Given the description of an element on the screen output the (x, y) to click on. 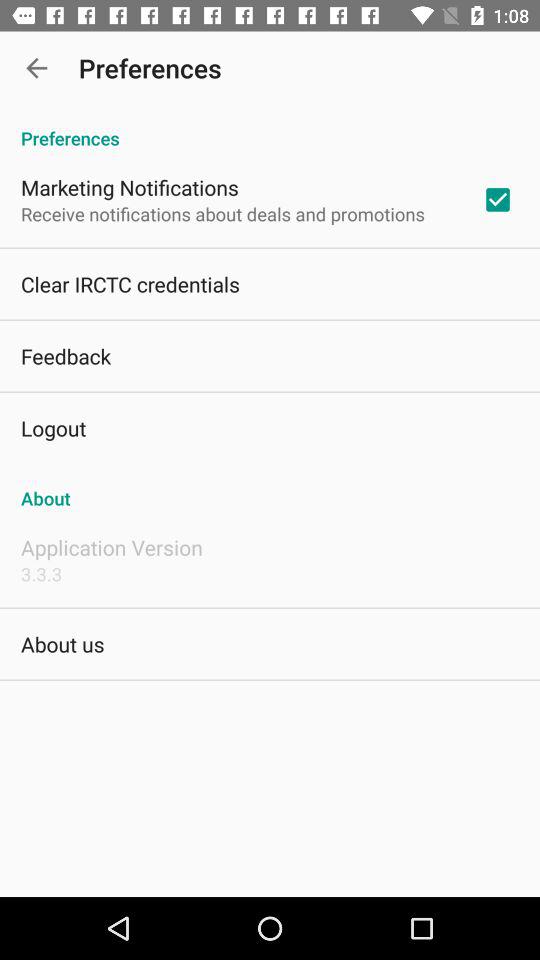
click app next to the preferences app (36, 68)
